Given the description of an element on the screen output the (x, y) to click on. 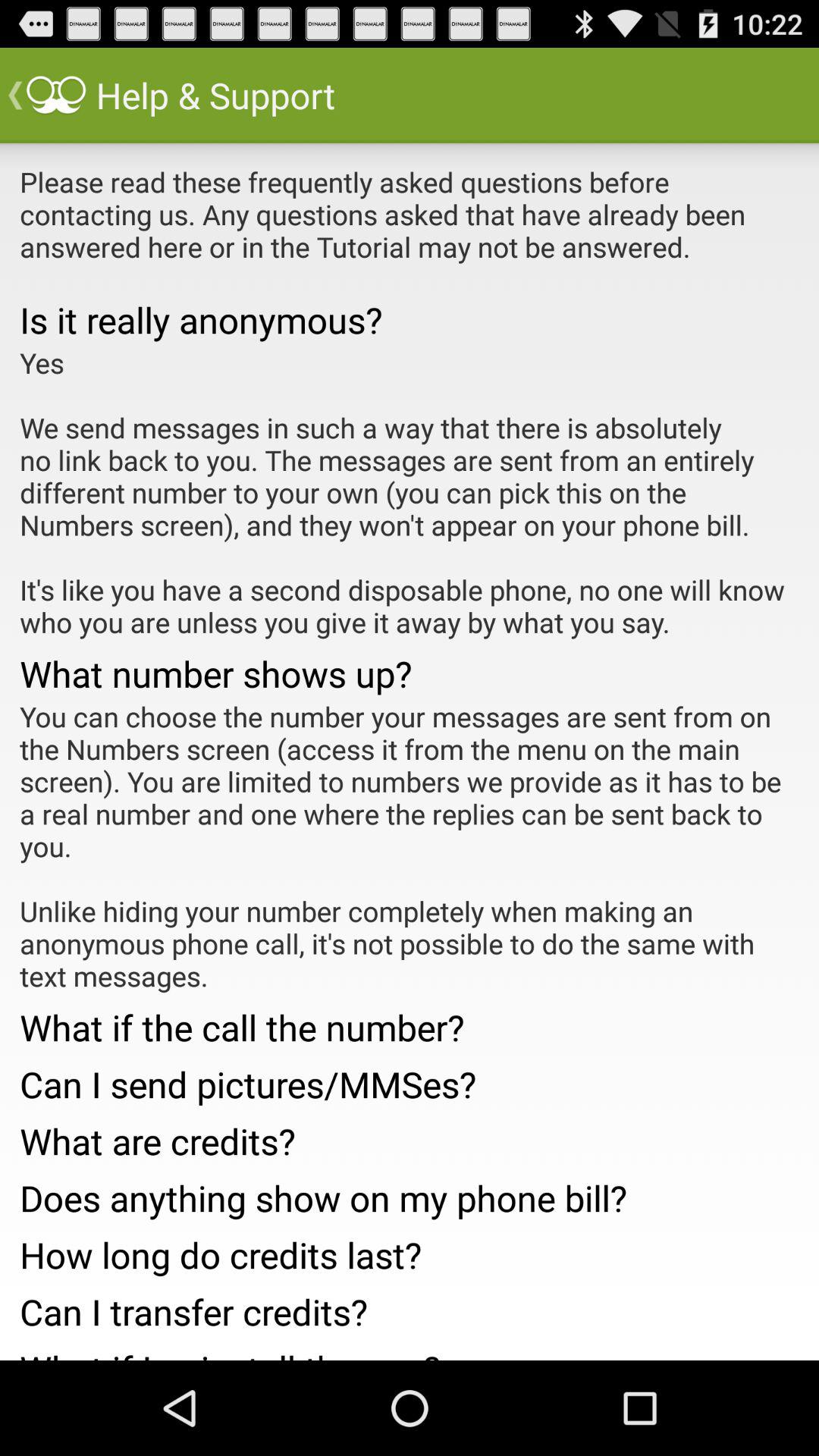
jump to you can choose app (409, 845)
